Given the description of an element on the screen output the (x, y) to click on. 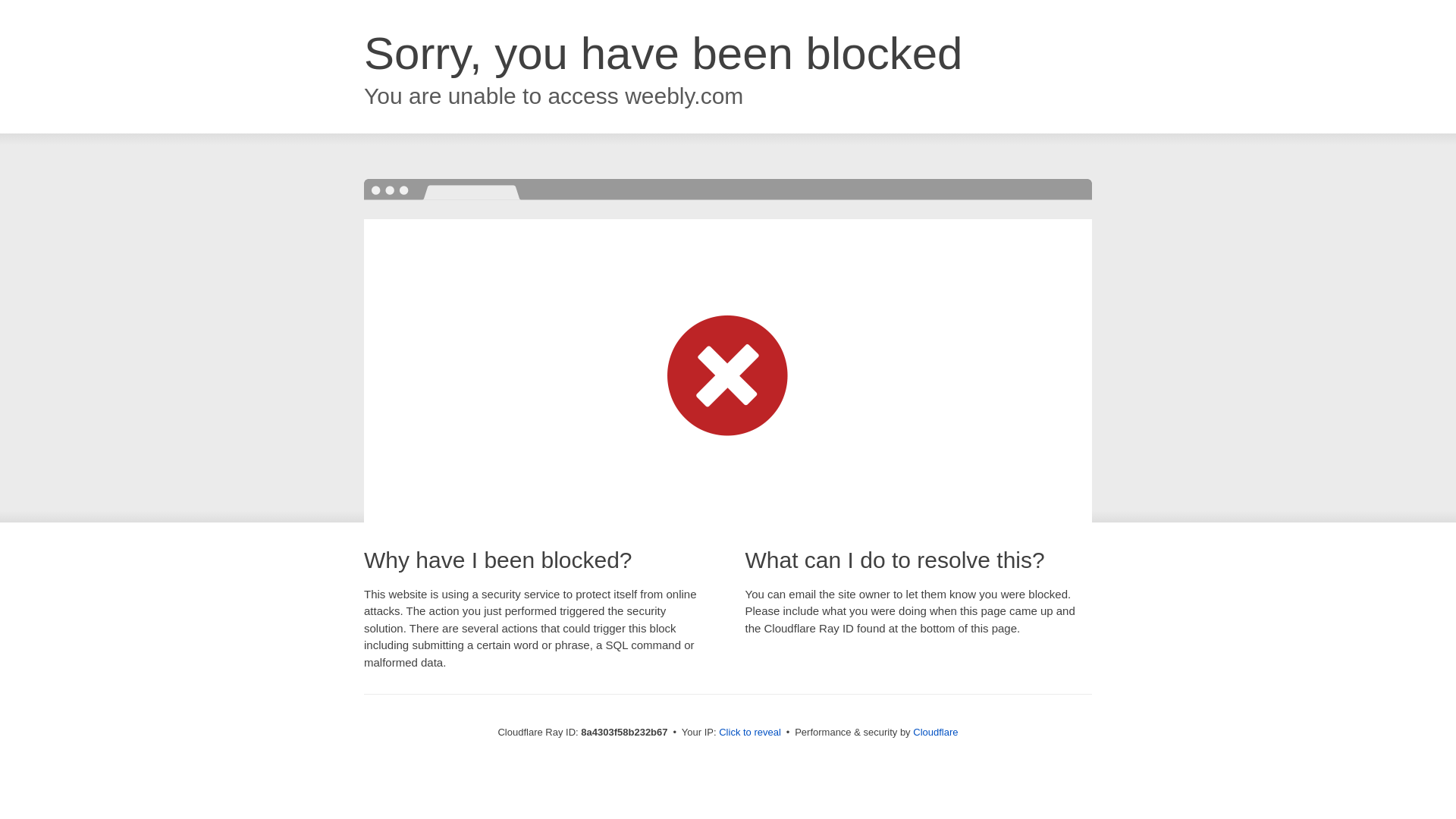
Click to reveal (749, 732)
Cloudflare (935, 731)
